Given the description of an element on the screen output the (x, y) to click on. 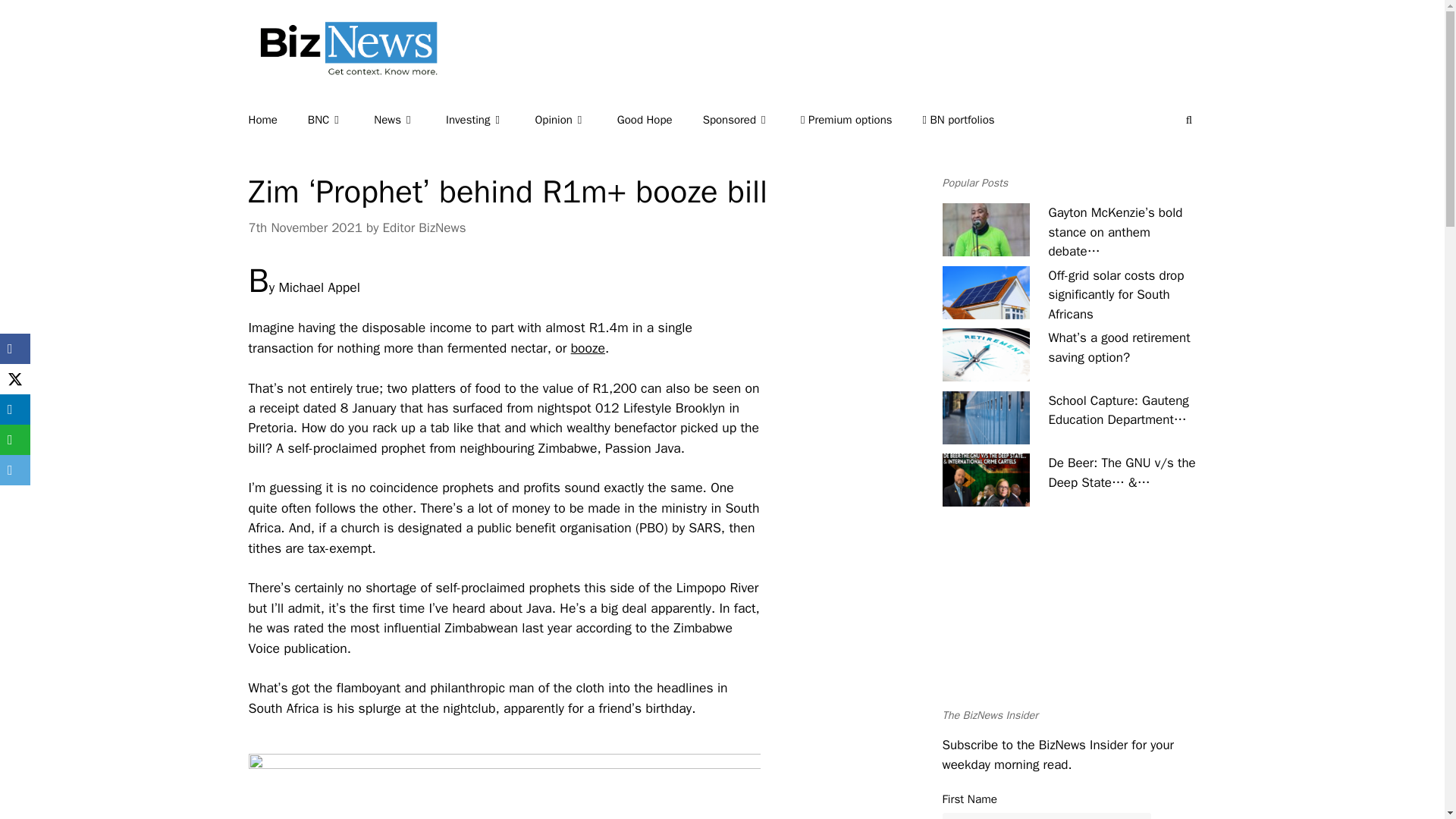
BNC (340, 119)
Investing (489, 119)
booze (587, 347)
Home (277, 119)
BizNews (343, 69)
News (409, 119)
Spotify Embed: BizNews Radio (1068, 619)
Opinion (574, 119)
Editor BizNews (423, 227)
Off-grid solar costs drop significantly for South Africans (985, 292)
Good Hope (660, 119)
Sponsored (751, 119)
View all posts by Editor BizNews (423, 227)
